Given the description of an element on the screen output the (x, y) to click on. 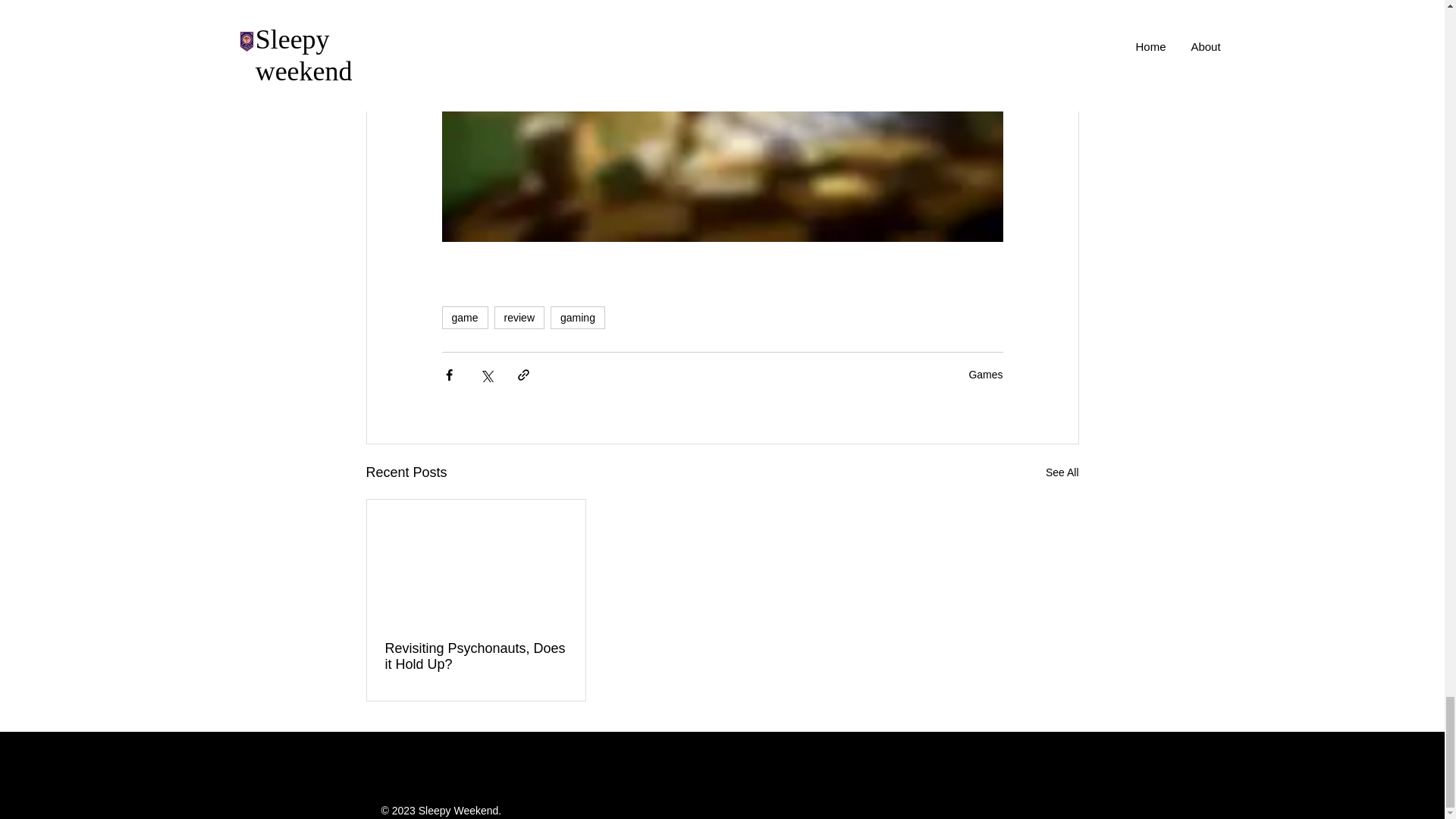
review (519, 317)
Games (985, 374)
See All (1061, 472)
game (464, 317)
gaming (577, 317)
Revisiting Psychonauts, Does it Hold Up? (476, 656)
